Given the description of an element on the screen output the (x, y) to click on. 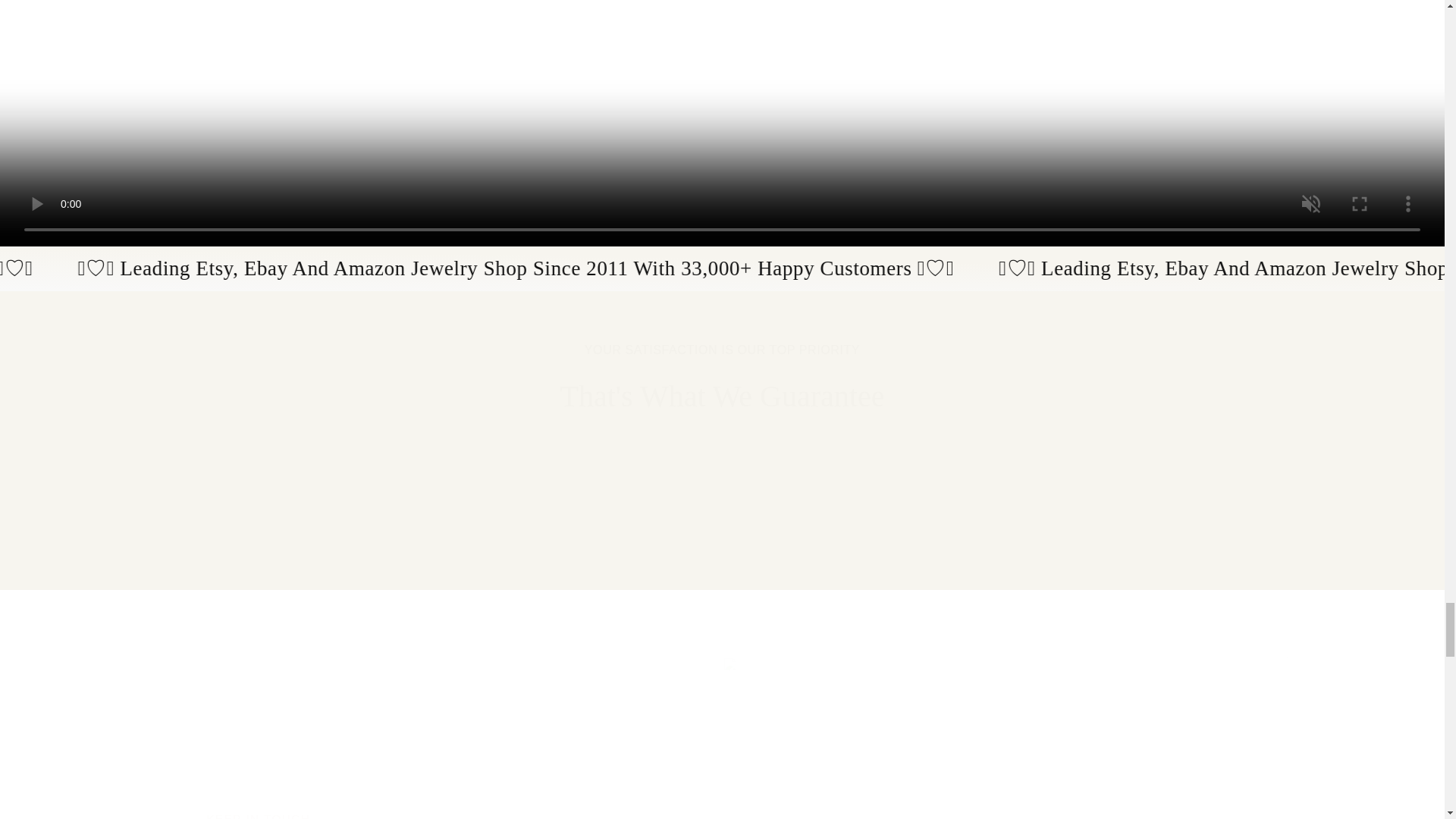
YOUR SATISFACTION IS OUR TOP PRIORITY (721, 350)
That's What We Guarantee (864, 527)
